Given the description of an element on the screen output the (x, y) to click on. 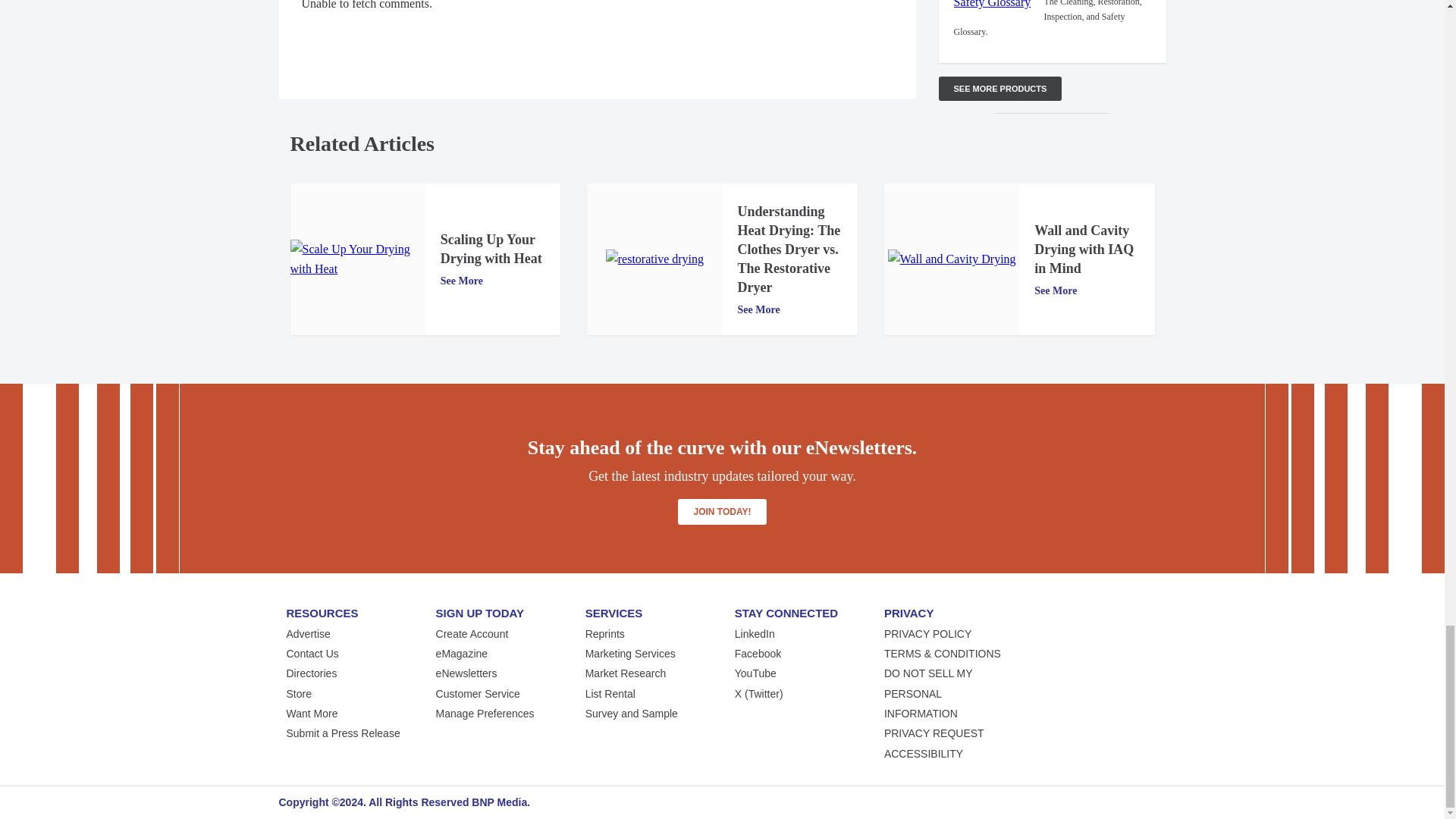
Scale Up Your Drying with Heat (357, 259)
restorative drying (654, 259)
Wall and Cavity Drying (952, 259)
